Given the description of an element on the screen output the (x, y) to click on. 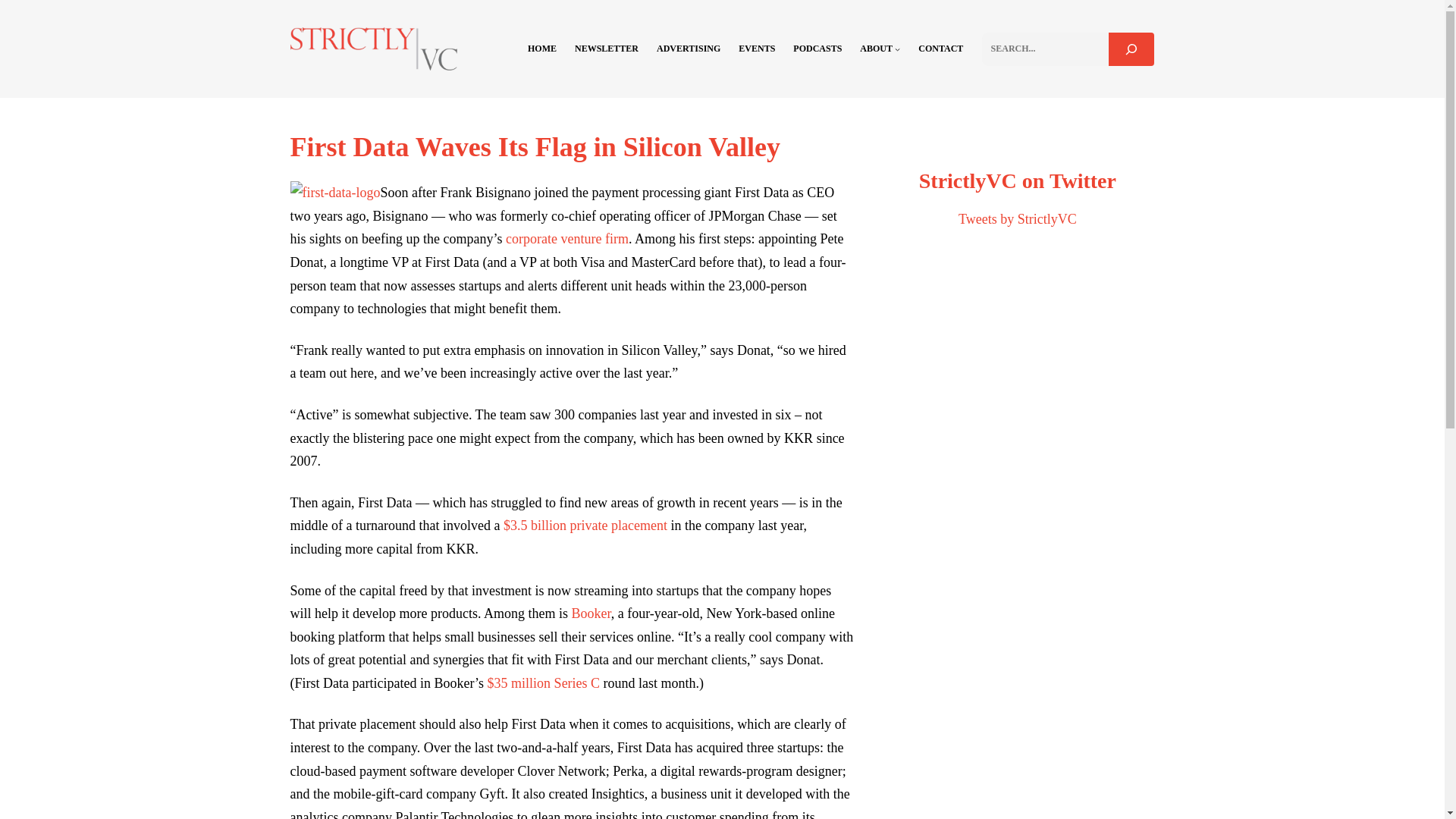
NEWSLETTER (607, 48)
CONTACT (940, 48)
ABOUT (876, 48)
HOME (541, 48)
ADVERTISING (688, 48)
First Data Waves Its Flag in Silicon Valley (533, 146)
PODCASTS (817, 48)
Booker (590, 613)
EVENTS (756, 48)
corporate venture firm (566, 238)
Tweets by StrictlyVC (1017, 218)
